Given the description of an element on the screen output the (x, y) to click on. 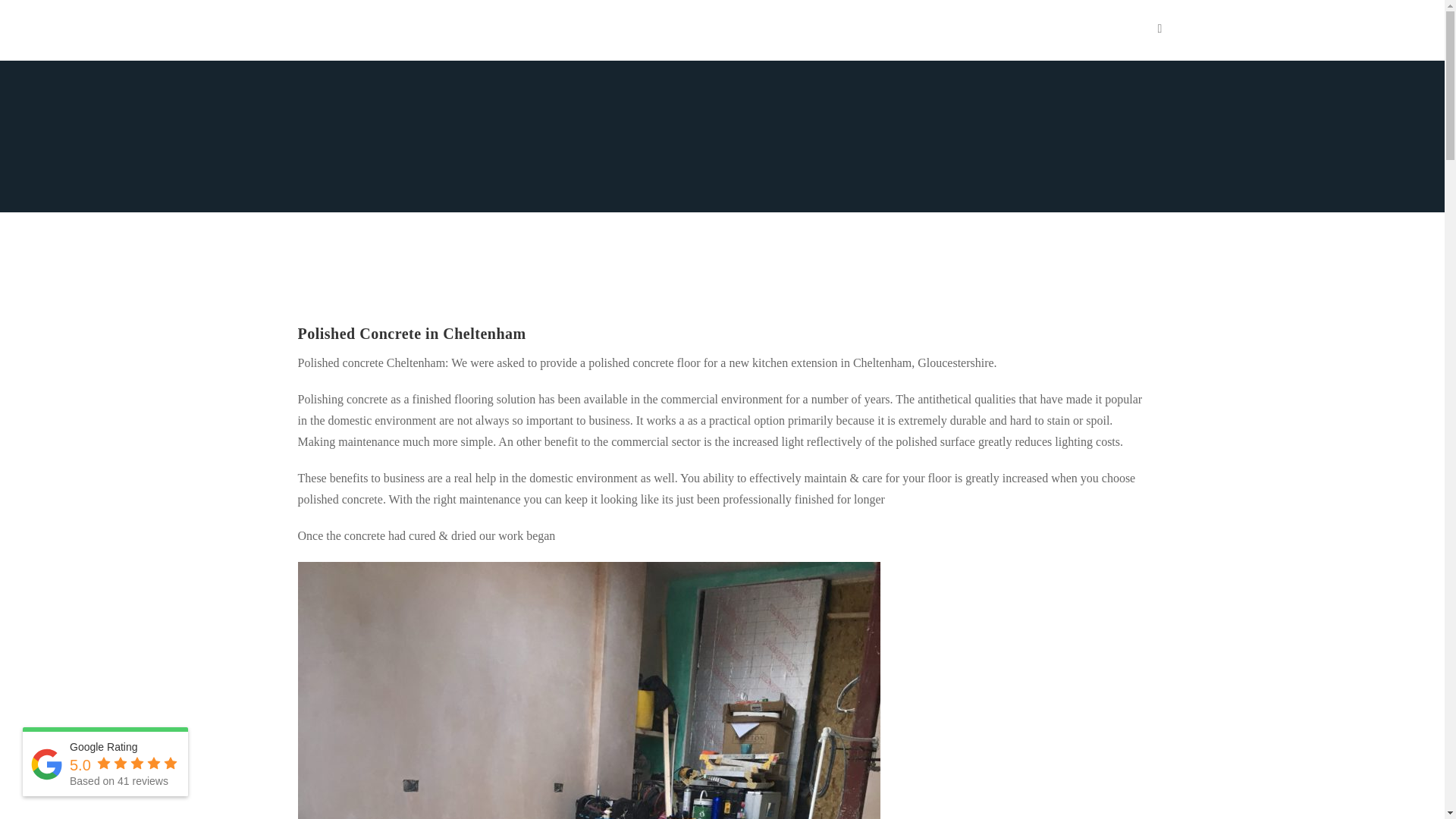
Permalink to Polished Concrete in Cheltenham (411, 333)
